Given the description of an element on the screen output the (x, y) to click on. 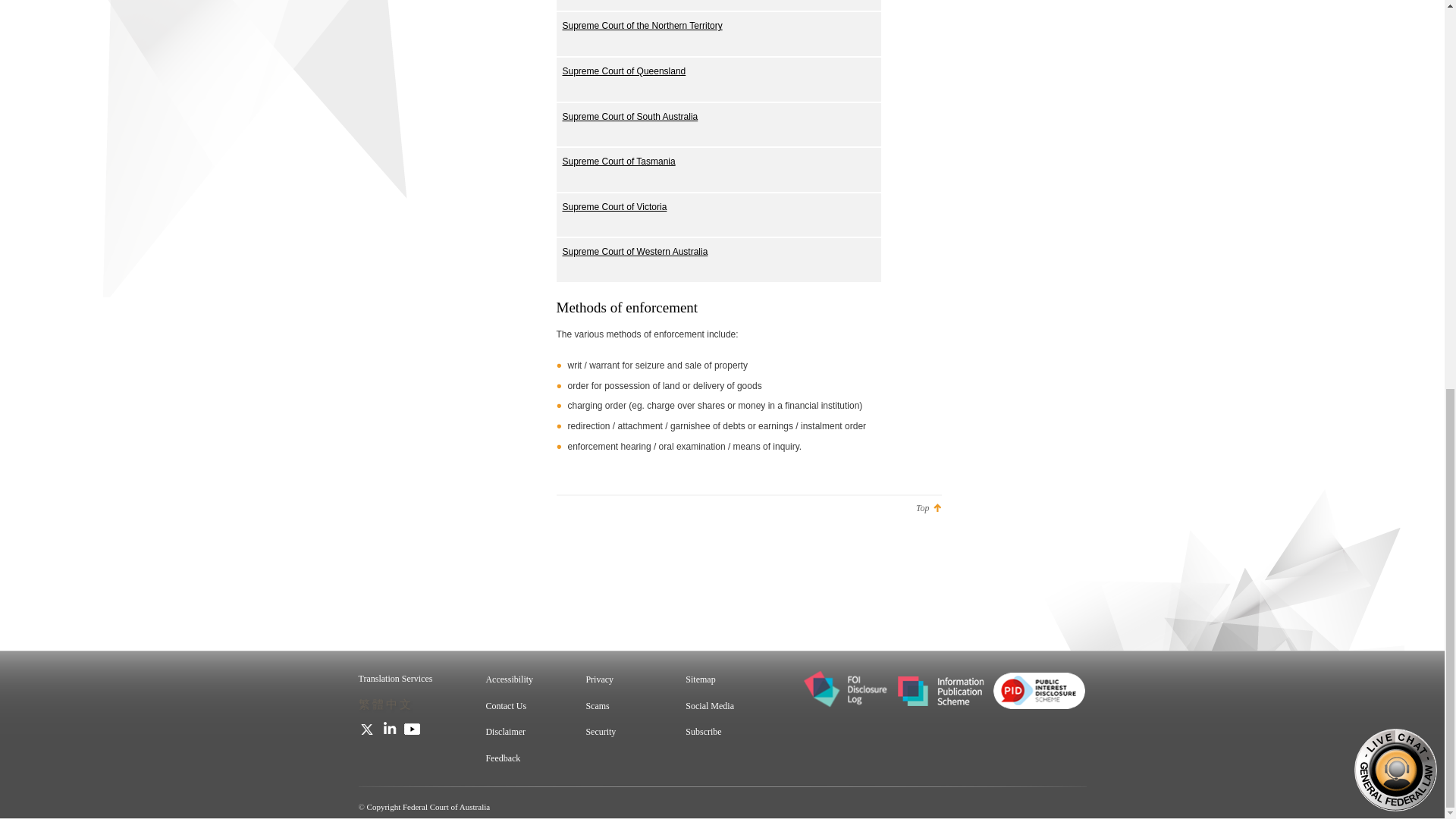
Traditional Chinese (385, 703)
